Given the description of an element on the screen output the (x, y) to click on. 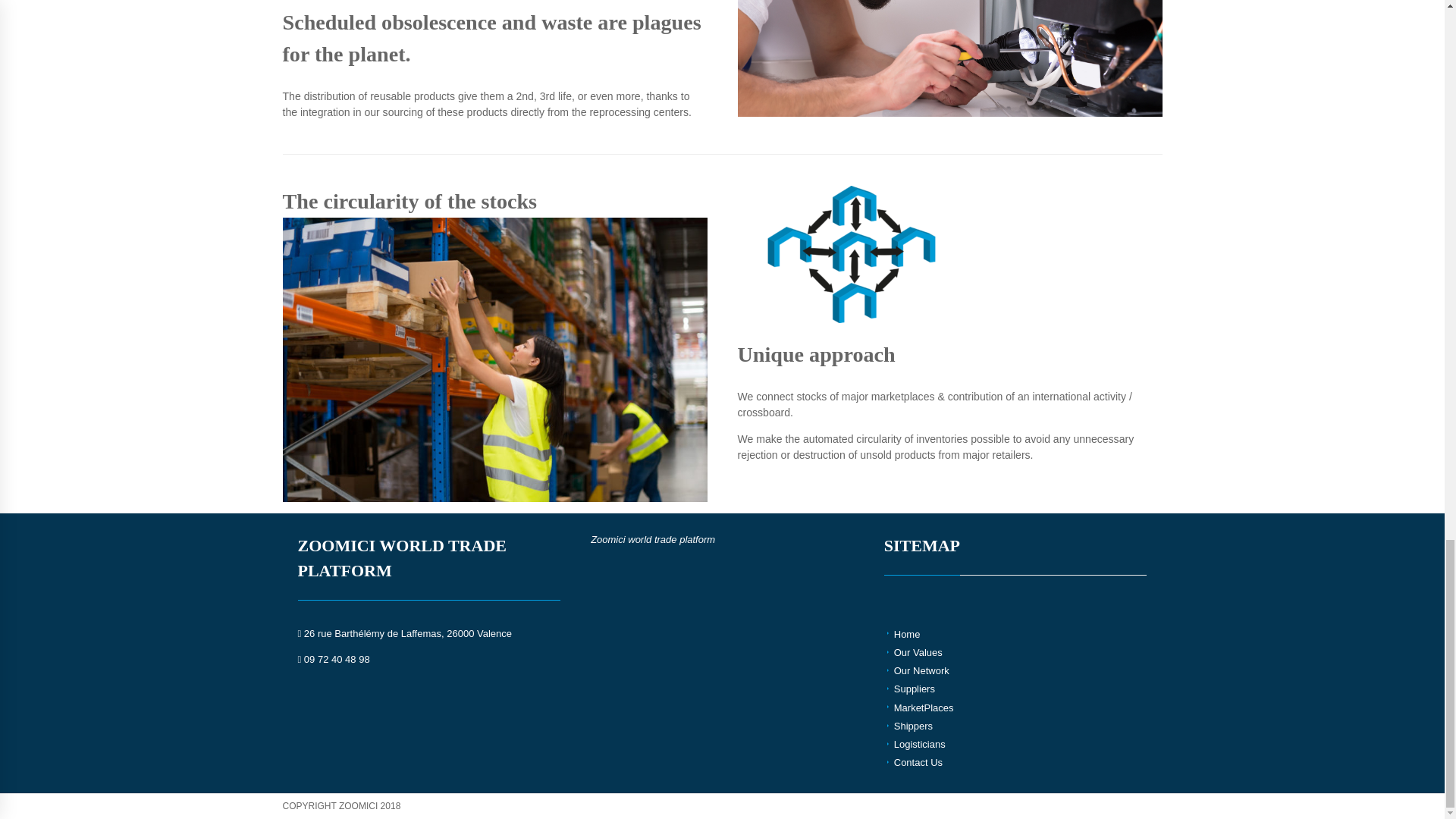
Logisticians (918, 744)
Contact Us (917, 762)
Our Network (921, 670)
Home (906, 633)
MarketPlaces (923, 707)
Shippers (913, 726)
Our Values (917, 652)
Zoomici world trade platform (652, 539)
Suppliers (913, 688)
